Given the description of an element on the screen output the (x, y) to click on. 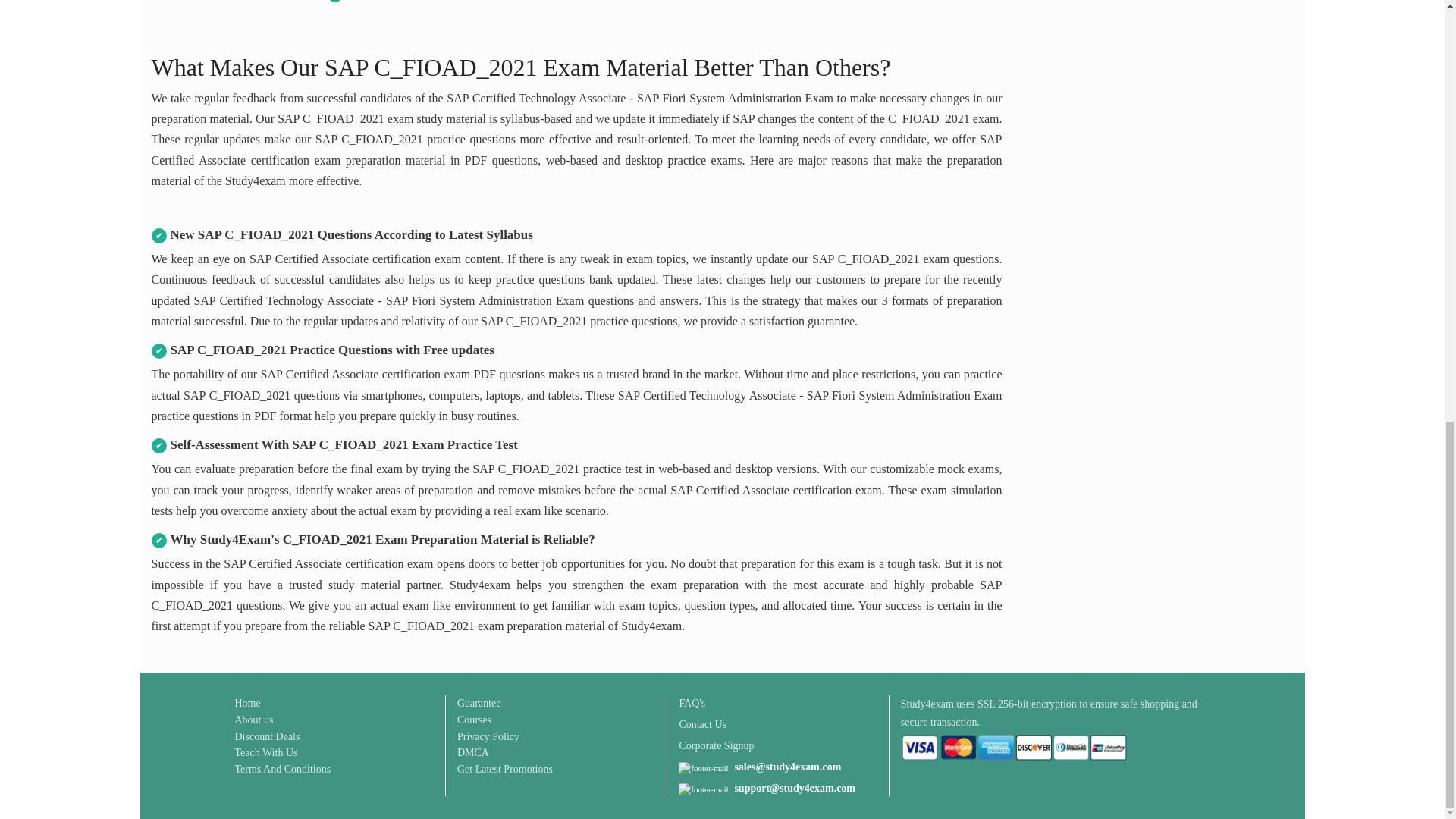
Get Latest Promotions (505, 769)
Corporate Signup (716, 745)
Privacy Policy (488, 736)
Teach With Us (266, 752)
Discount Deals (266, 736)
Terms And Conditions (282, 769)
DMCA (473, 752)
About us (253, 719)
Guarantee (478, 703)
Contact Us (702, 724)
FAQ's (691, 703)
Home (247, 703)
Courses (474, 719)
